Given the description of an element on the screen output the (x, y) to click on. 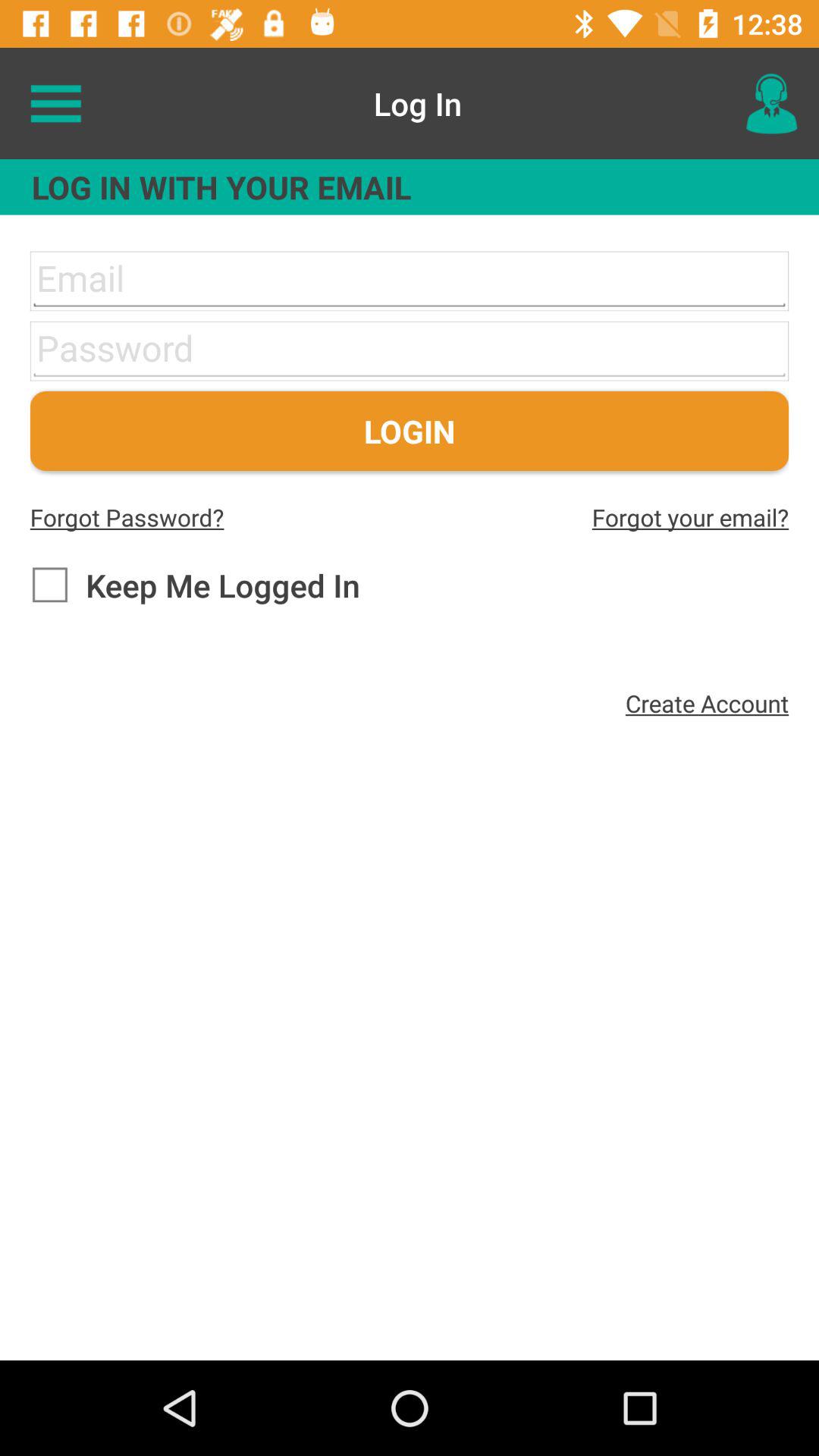
email address (409, 281)
